Given the description of an element on the screen output the (x, y) to click on. 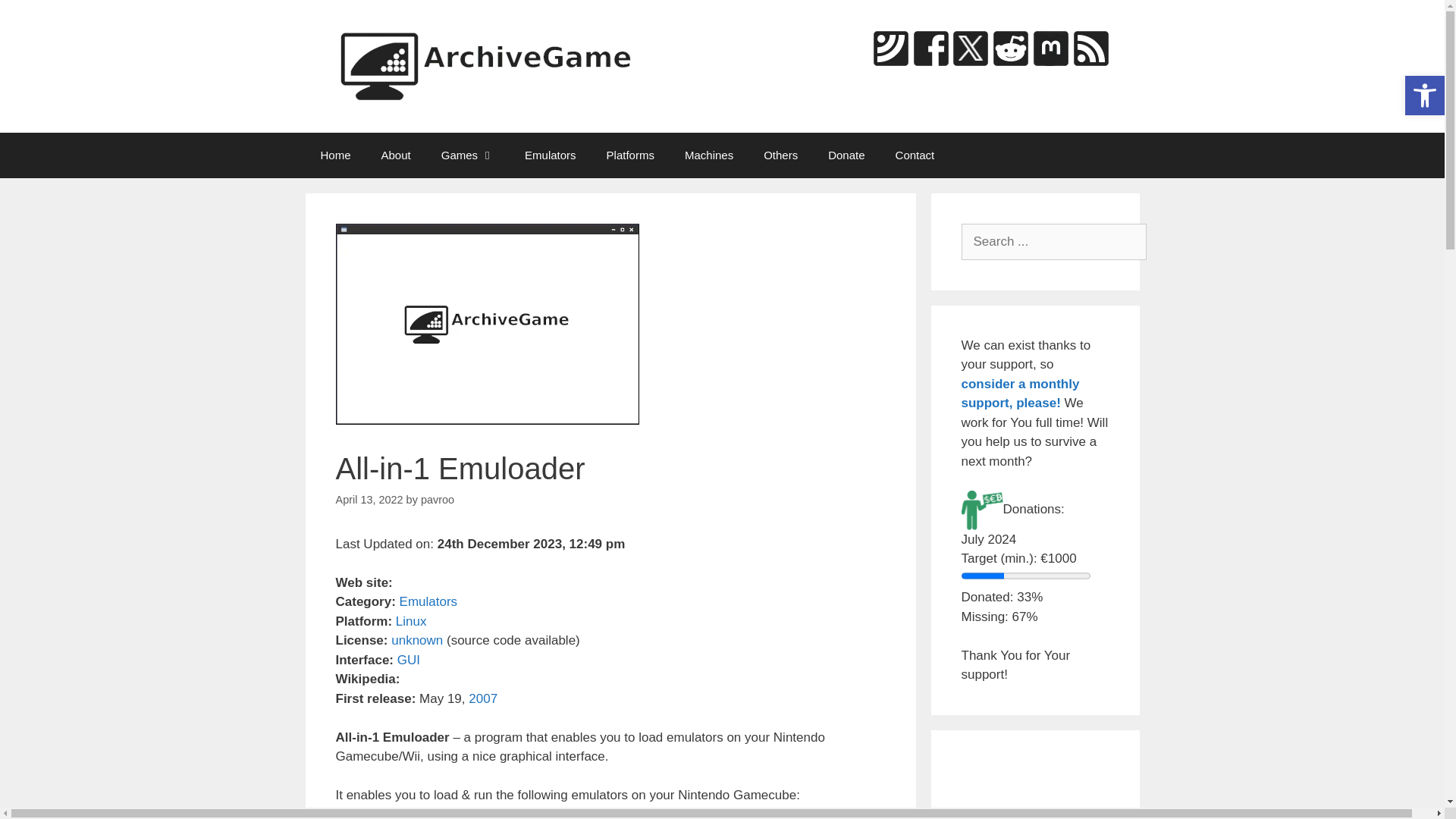
Follow us on LinuxChannel (890, 48)
About (396, 155)
View all posts by pavroo (437, 499)
Emulators (550, 155)
Games (467, 155)
Accessibility Tools (1424, 95)
Your monthly support is needed! (1020, 392)
Reddit (1010, 48)
RSS Feeds (1089, 48)
Facebook (930, 48)
Accessibility Tools (1424, 95)
Mastodon (1050, 48)
Machines (708, 155)
Platforms (1424, 95)
